Given the description of an element on the screen output the (x, y) to click on. 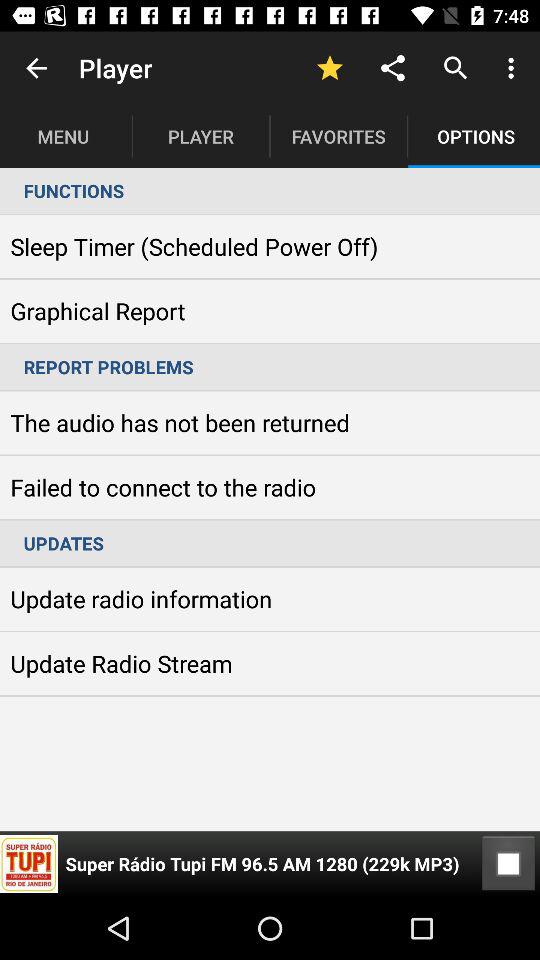
tap item below the updates item (508, 863)
